Given the description of an element on the screen output the (x, y) to click on. 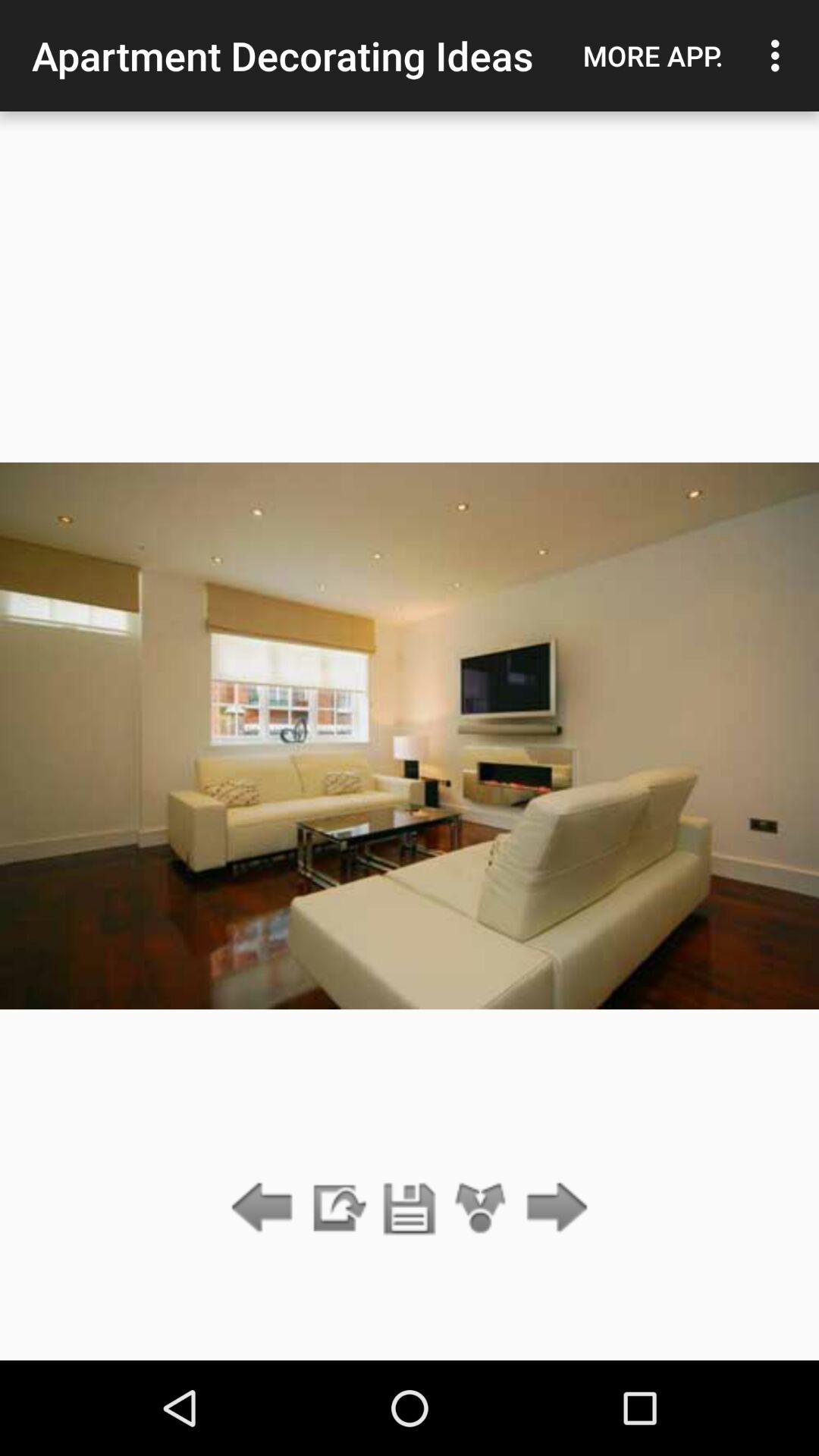
tap icon to the right of more app. icon (779, 55)
